Given the description of an element on the screen output the (x, y) to click on. 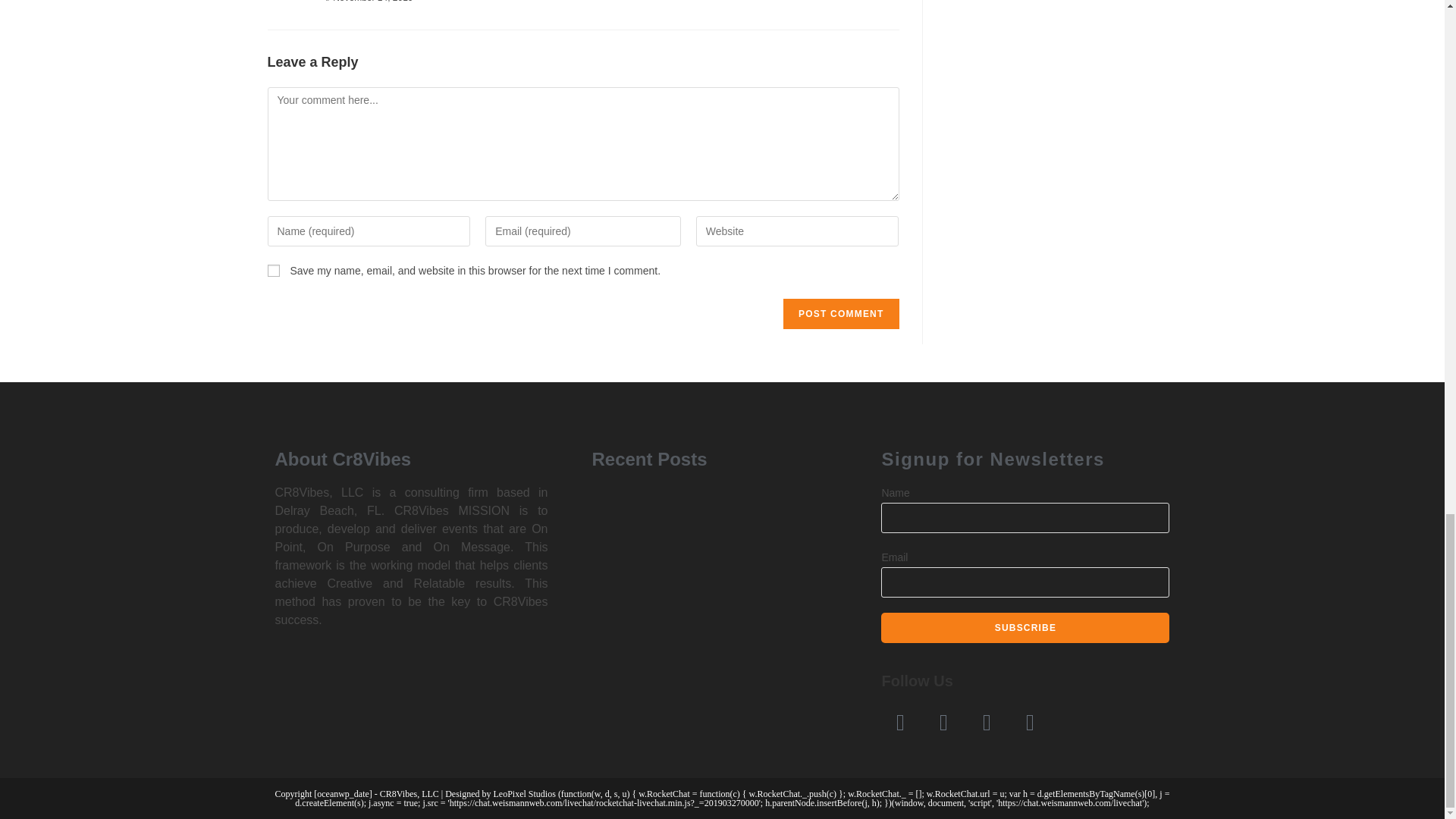
Post Comment (840, 313)
yes (272, 270)
Post Comment (840, 313)
Subscribe (1024, 627)
Subscribe (1024, 627)
LeoPixel Studios (525, 793)
